Given the description of an element on the screen output the (x, y) to click on. 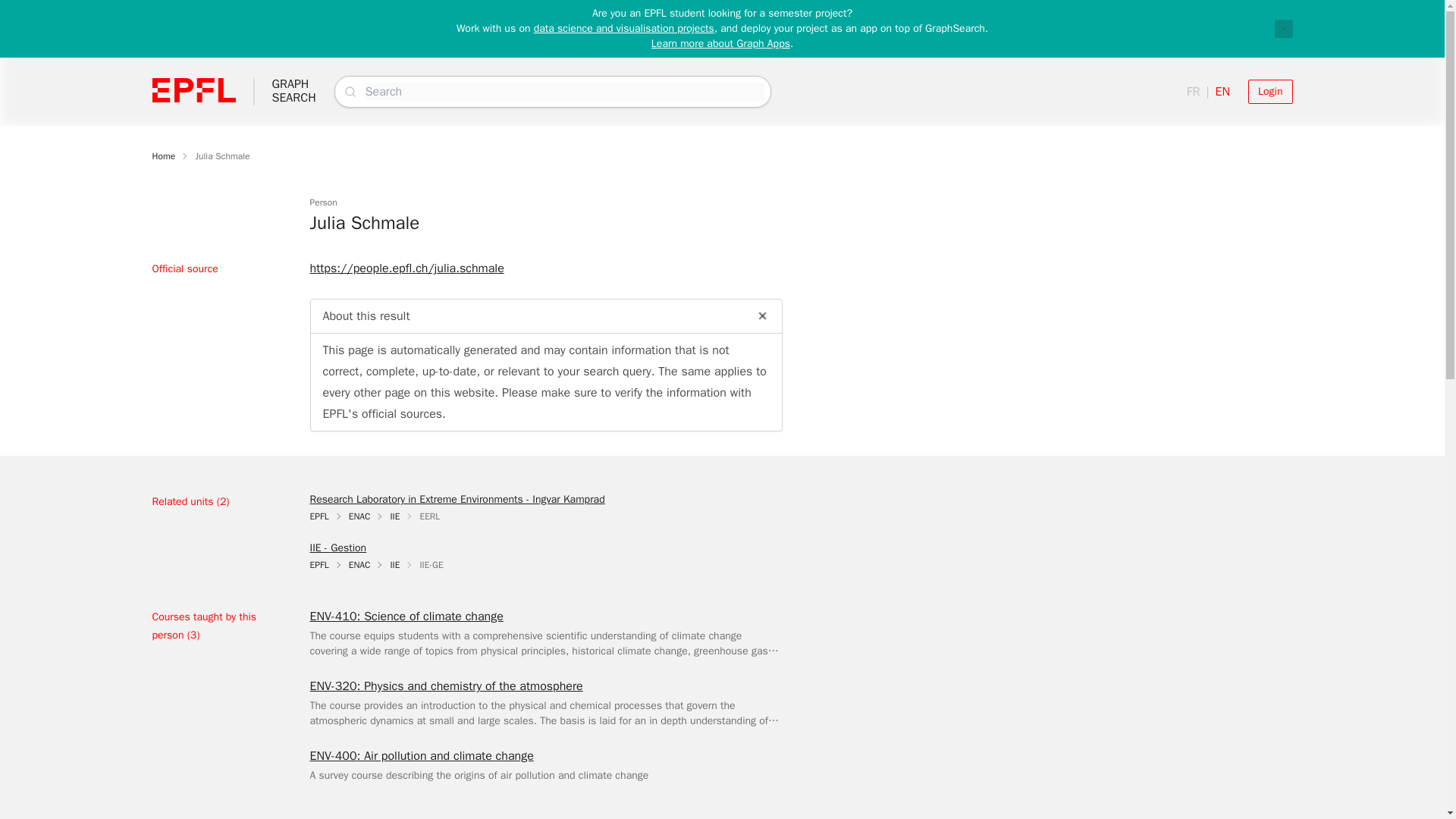
ENV-320: Physics and chemistry of the atmosphere (445, 686)
Learn more about Graph Apps (720, 42)
EPFL (318, 564)
IIE - Gestion (337, 548)
EPFL (318, 516)
ENAC (360, 516)
Julia Schmale (292, 90)
ENV-410: Science of climate change (221, 155)
Close notification (405, 616)
Research Laboratory in Extreme Environments - Ingvar Kamprad (1283, 28)
Login (456, 499)
ENV-400: Air pollution and climate change (1269, 91)
ENAC (420, 755)
Home (360, 564)
